Given the description of an element on the screen output the (x, y) to click on. 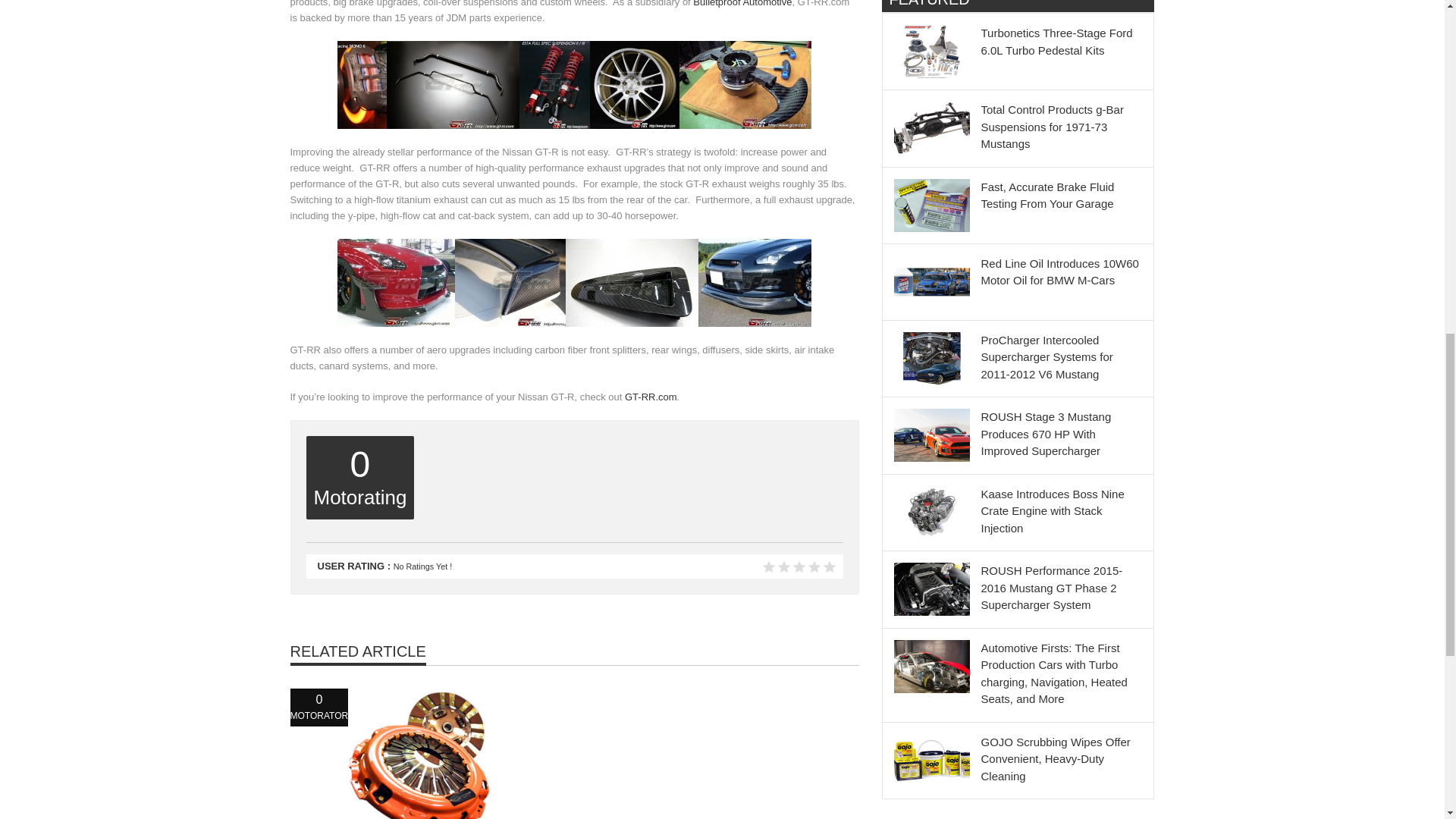
Bulletproof Automotive (742, 3)
GT-RR.com (650, 396)
Turbonetics Three-Stage Ford 6.0L Turbo Pedestal Kits (1056, 41)
